Given the description of an element on the screen output the (x, y) to click on. 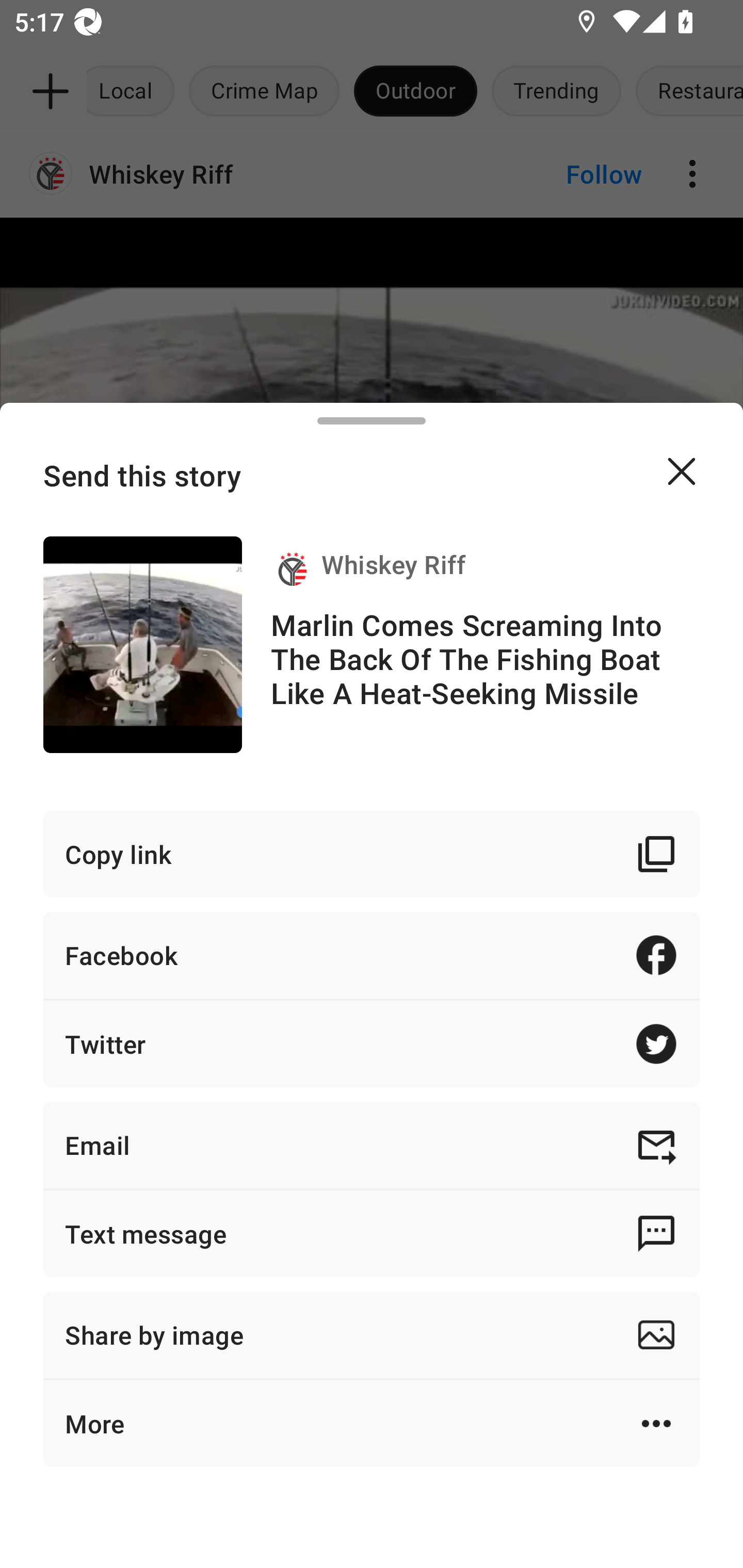
Copy link (371, 853)
Facebook (371, 955)
Twitter (371, 1043)
Email (371, 1145)
Text message (371, 1233)
Share by image (371, 1335)
More (371, 1423)
